Given the description of an element on the screen output the (x, y) to click on. 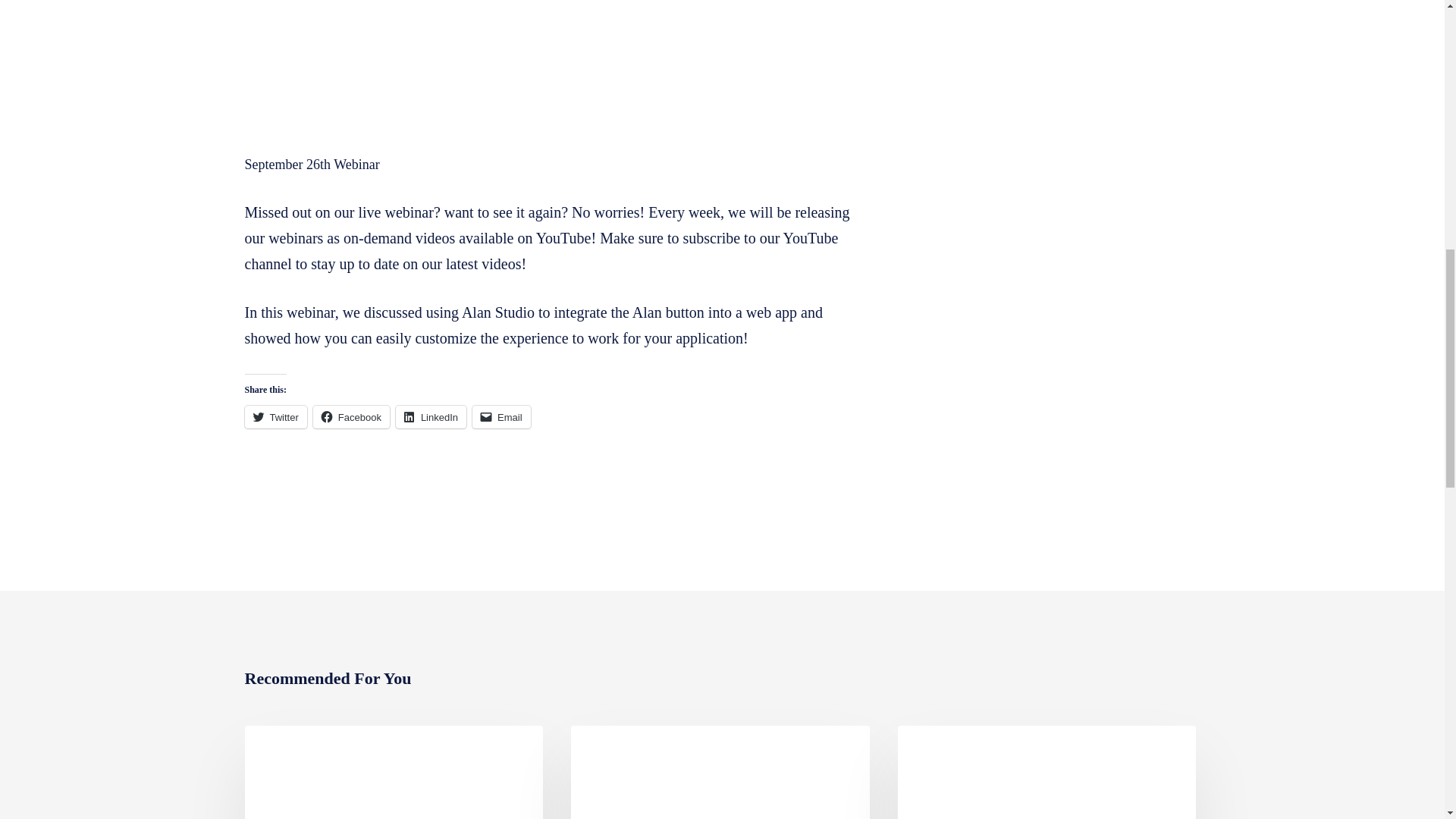
Click to share on Facebook (351, 416)
Click to email a link to a friend (501, 416)
Facebook (351, 416)
Click to share on Twitter (274, 416)
LinkedIn (430, 416)
Click to share on LinkedIn (430, 416)
Email (501, 416)
Twitter (274, 416)
